Given the description of an element on the screen output the (x, y) to click on. 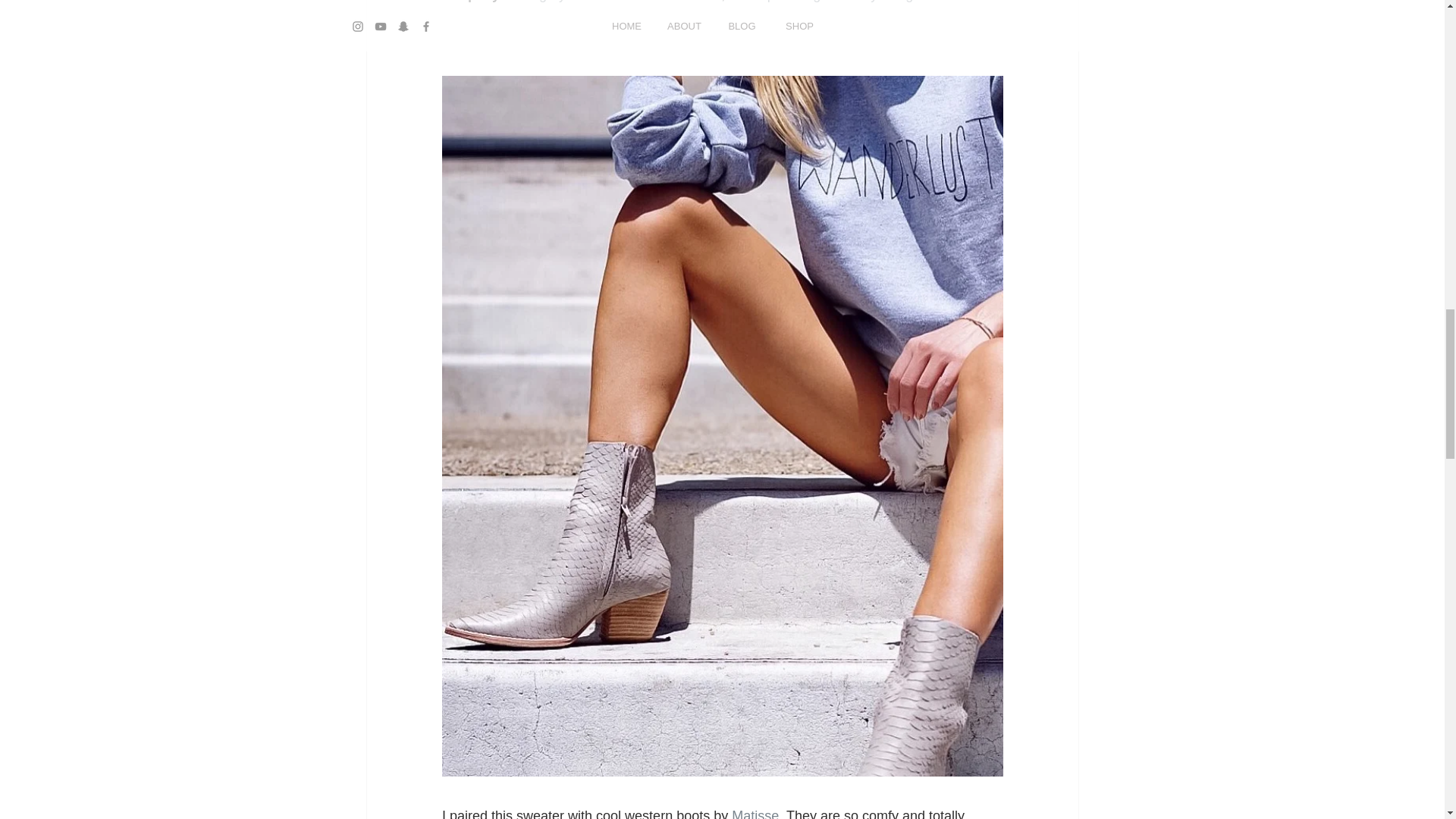
Matisse (755, 813)
grey sweater 'WANDERLUST' (629, 1)
